Given the description of an element on the screen output the (x, y) to click on. 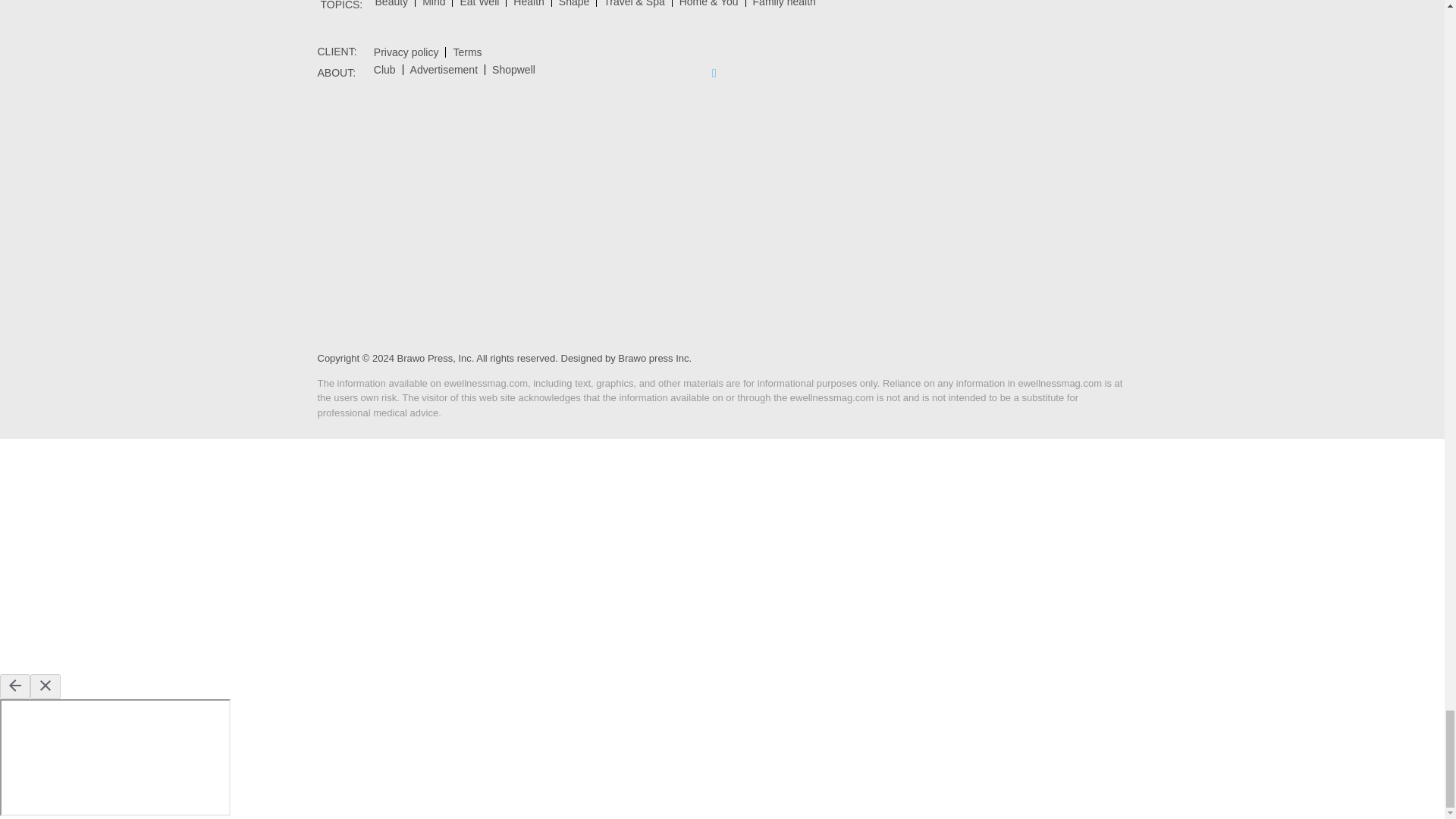
Mind (432, 3)
uroda (391, 3)
Facebook (713, 73)
Beauty (391, 3)
